Given the description of an element on the screen output the (x, y) to click on. 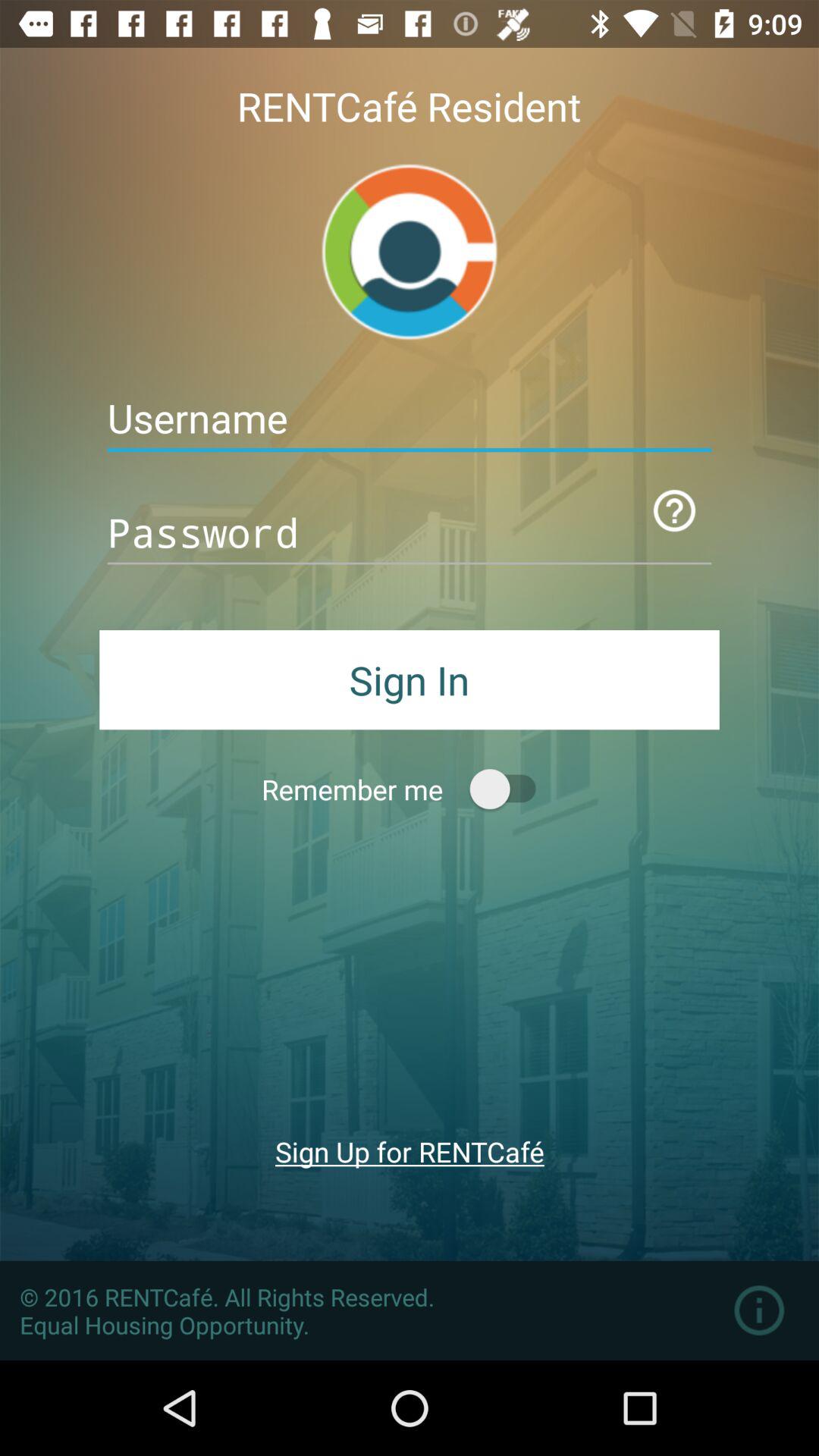
toggle remember me selection (509, 789)
